Given the description of an element on the screen output the (x, y) to click on. 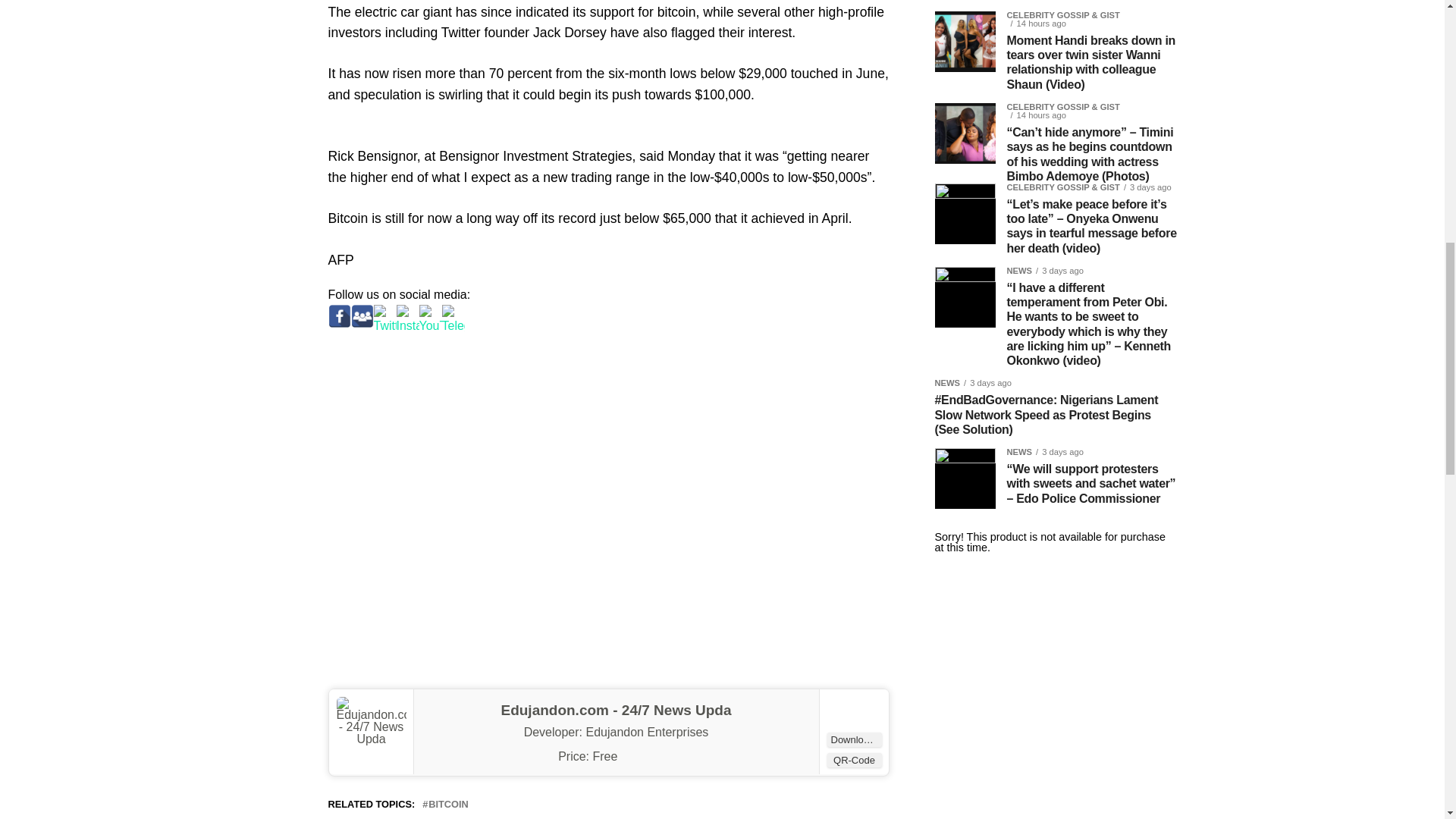
Facebook (338, 315)
Telegram (452, 315)
Instagram (407, 315)
Facebook Group (361, 315)
YouTube (430, 315)
Twitter (384, 315)
